Given the description of an element on the screen output the (x, y) to click on. 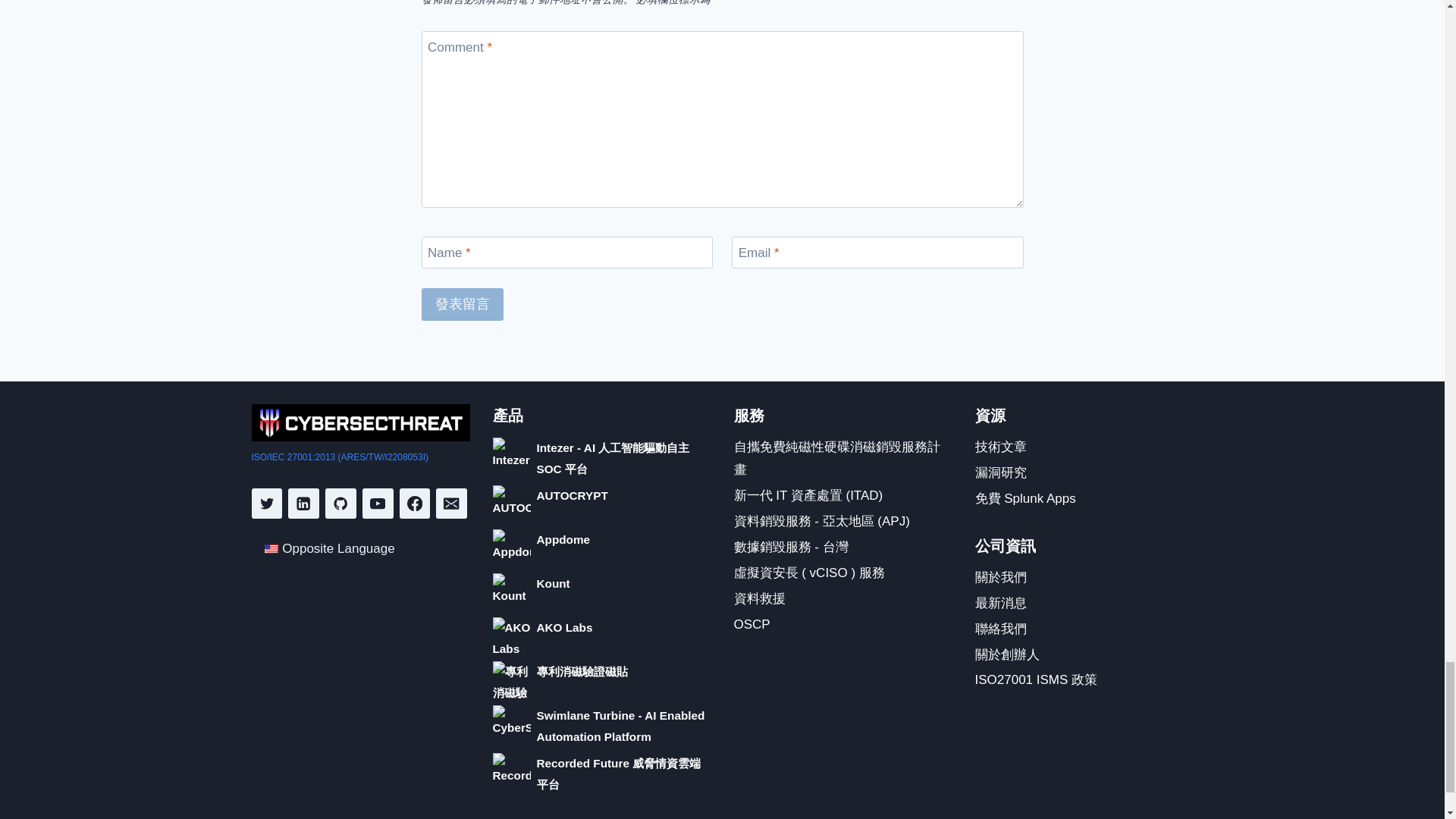
Opposite Language (271, 548)
